Given the description of an element on the screen output the (x, y) to click on. 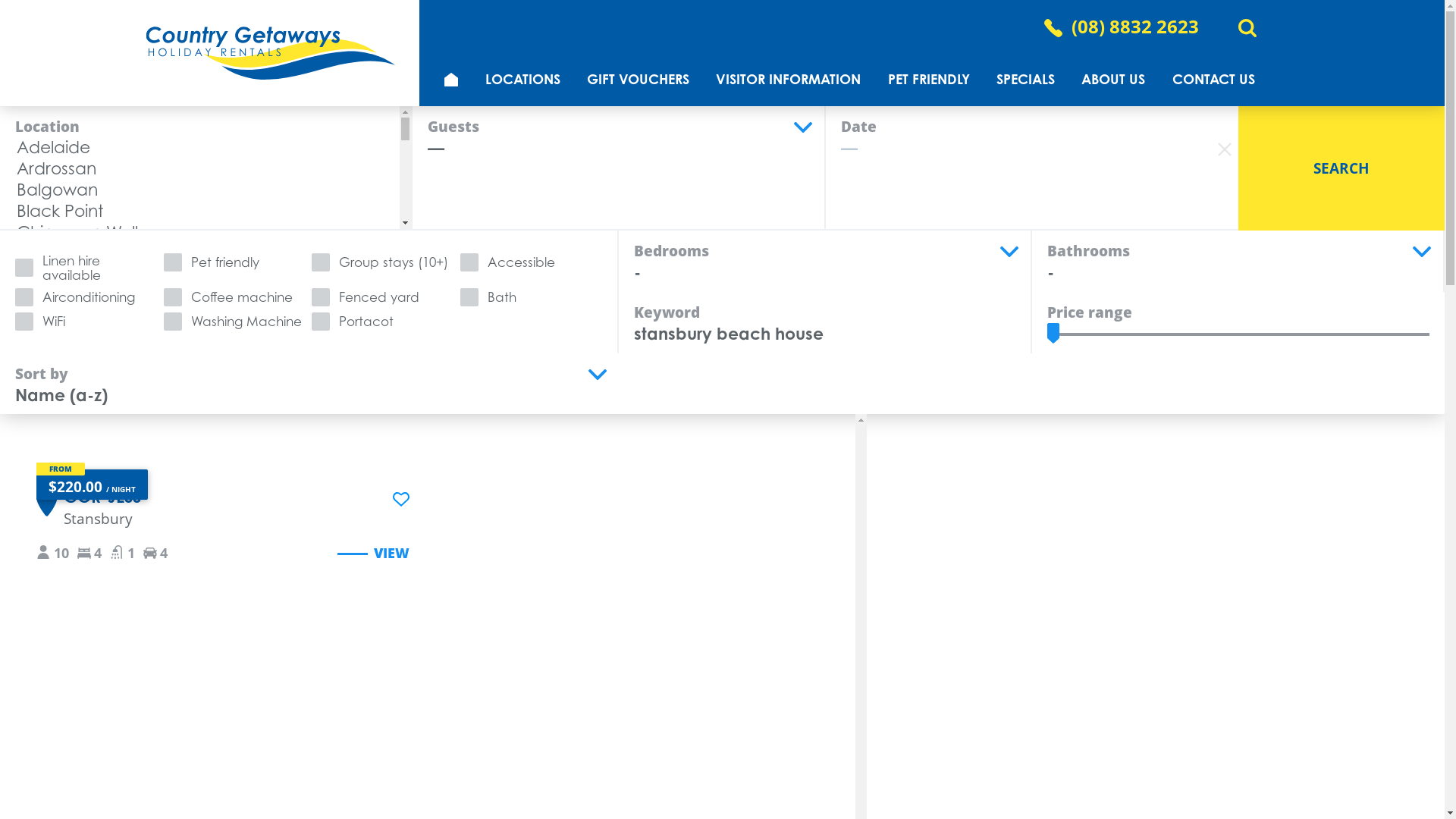
Add GOR-JESS to wishlist Element type: hover (400, 498)
SPECIALS Element type: text (1024, 79)
ABOUT US Element type: text (1113, 79)
GIFT VOUCHERS Element type: text (637, 79)
LOCATIONS Element type: text (522, 79)
CONTACT US Element type: text (1212, 79)
GOR-JESS Element type: text (102, 496)
(08) 8832 2623 Element type: text (1134, 26)
HOME Element type: text (450, 79)
VISITOR INFORMATION Element type: text (788, 79)
PET FRIENDLY Element type: text (928, 79)
VIEW
MORE ABOUT GOR-JESS Element type: text (370, 553)
SEARCH Element type: text (1341, 168)
